Given the description of an element on the screen output the (x, y) to click on. 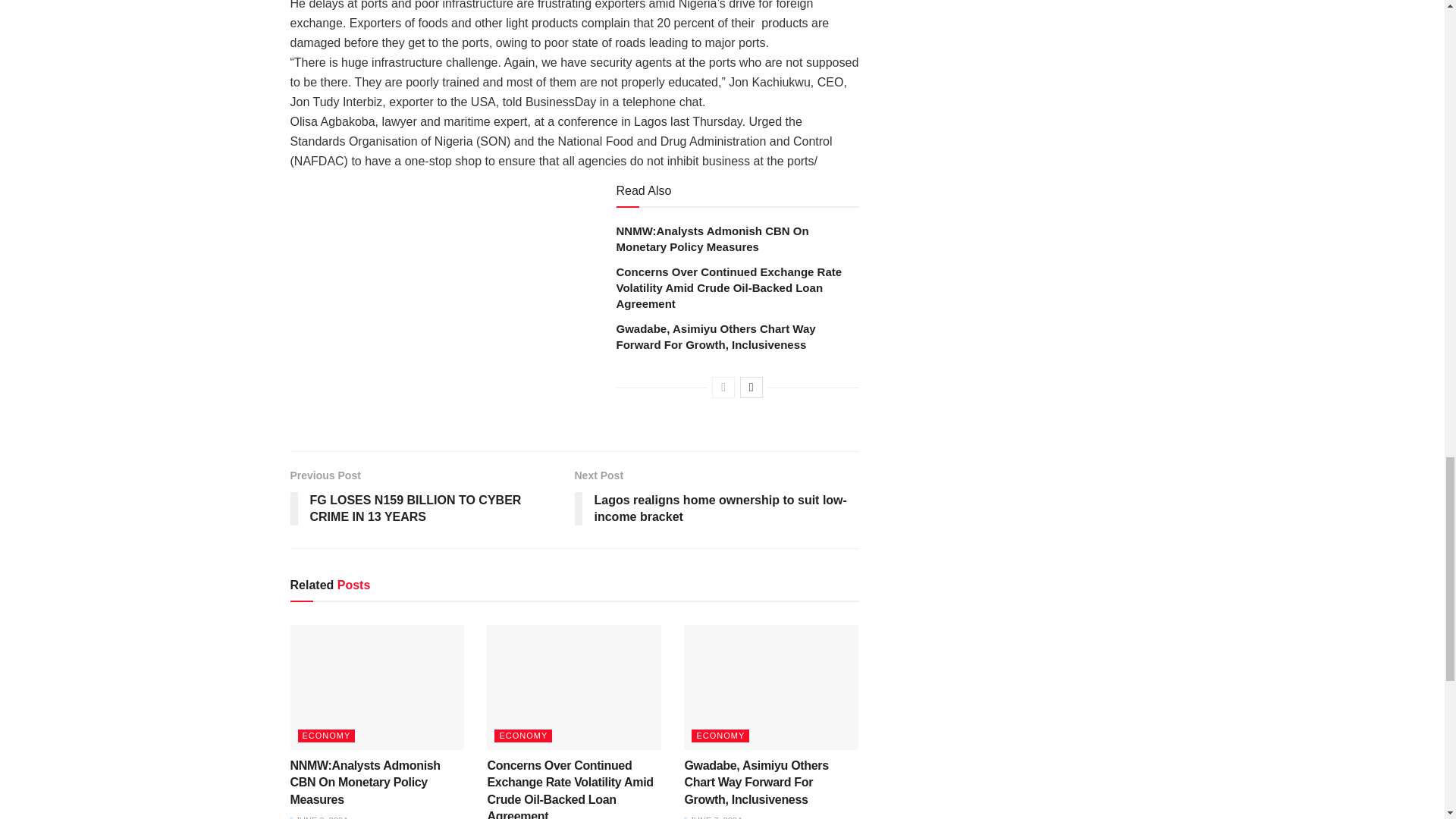
Next (750, 387)
Previous (723, 387)
